Given the description of an element on the screen output the (x, y) to click on. 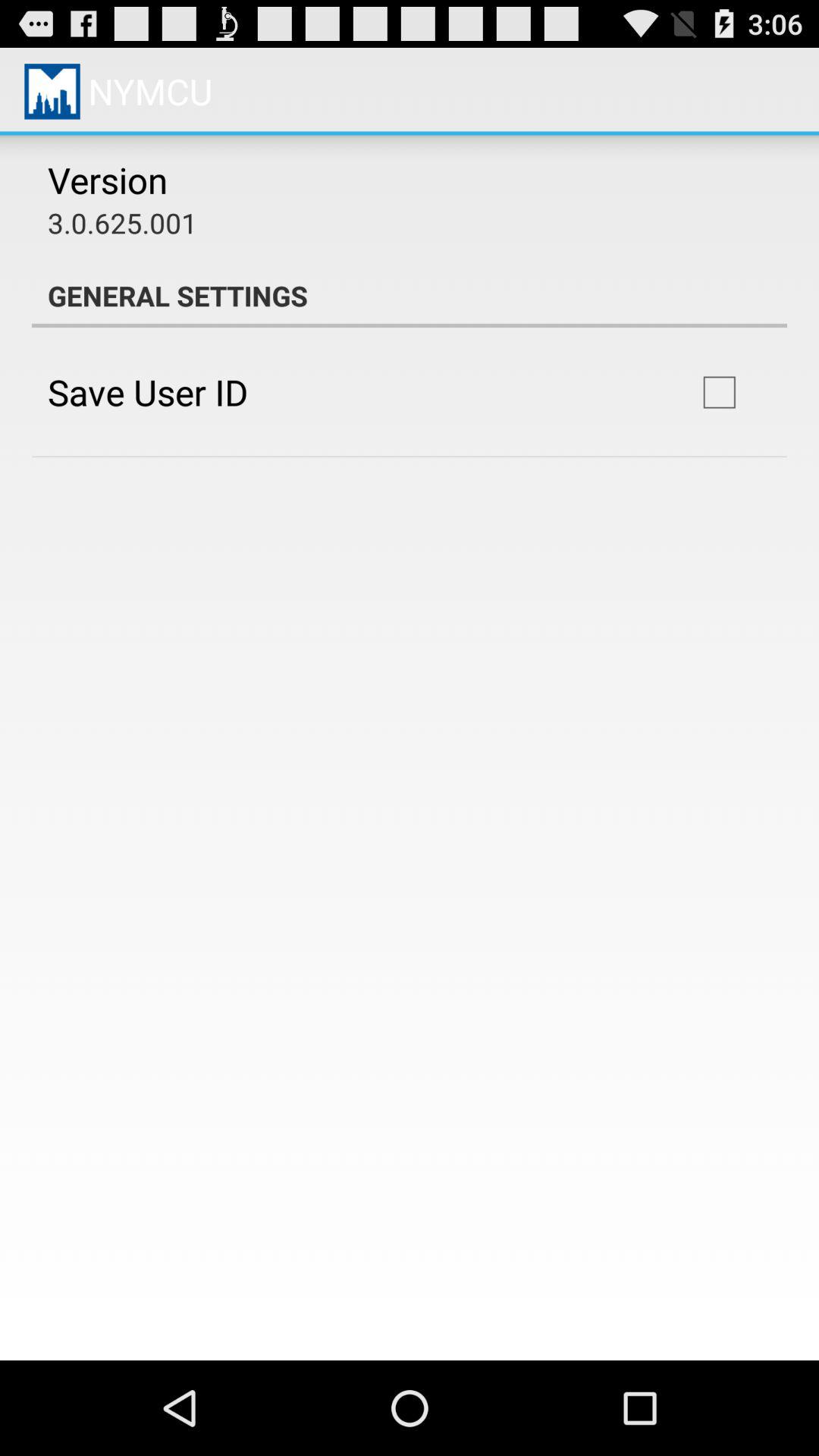
press app below the version (122, 222)
